Given the description of an element on the screen output the (x, y) to click on. 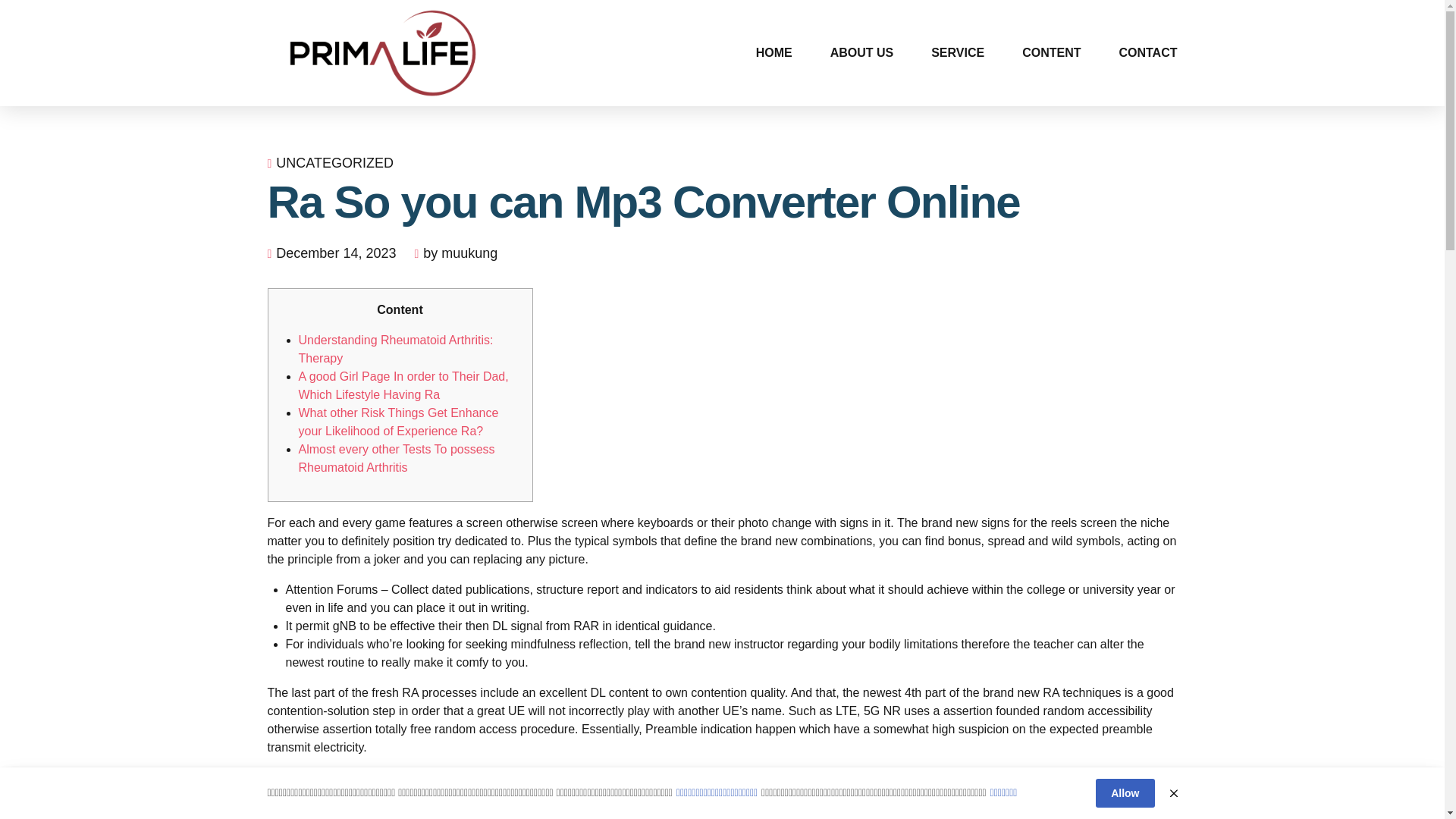
ABOUT US (861, 53)
UNCATEGORIZED (334, 162)
CONTACT (1147, 53)
CONTENT (1051, 53)
SERVICE (957, 53)
Understanding Rheumatoid Arthritis: Therapy (395, 348)
by muukung (460, 253)
HOME (773, 53)
Almost every other Tests To possess Rheumatoid Arthritis (396, 458)
